Given the description of an element on the screen output the (x, y) to click on. 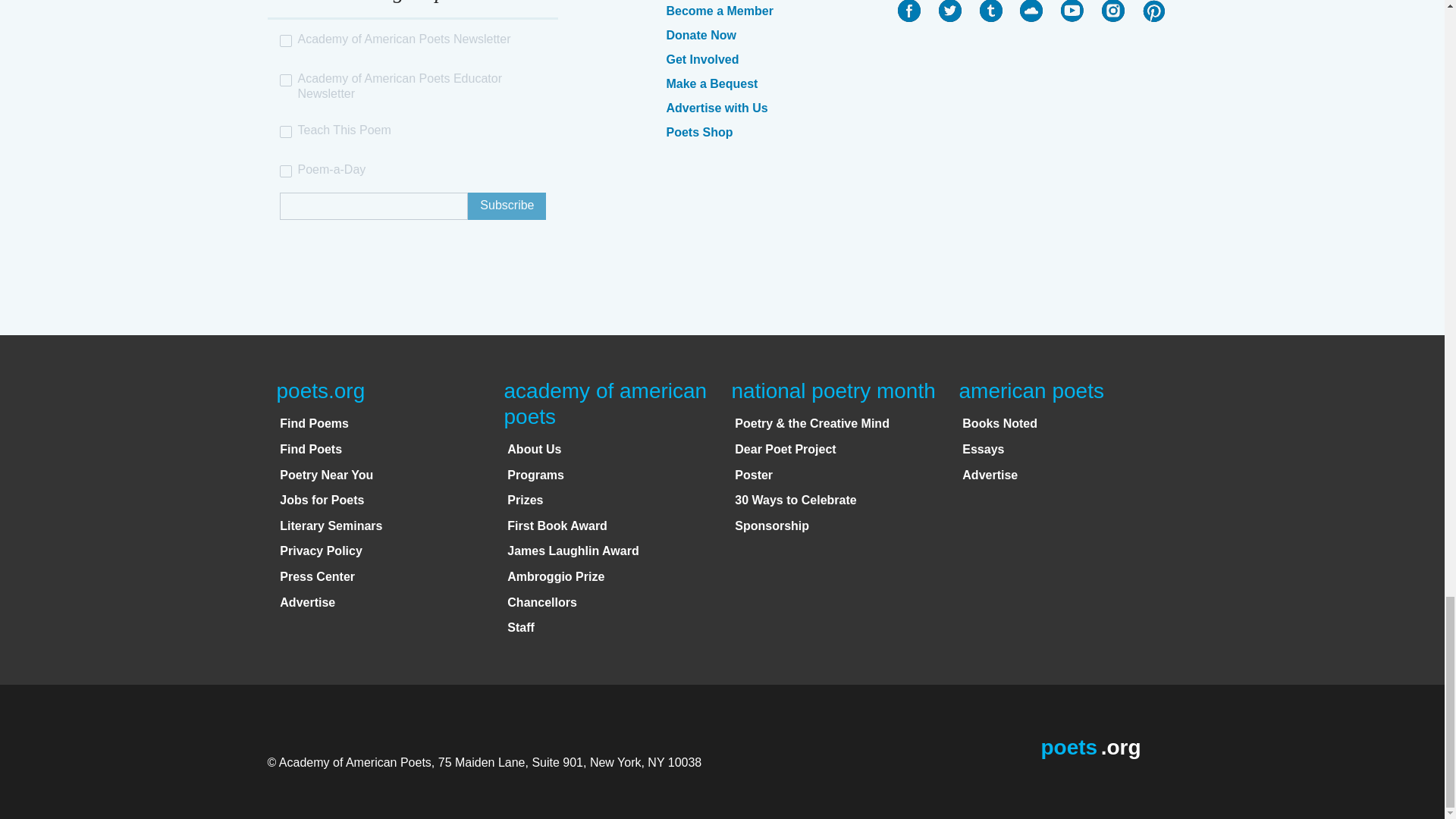
Jobs for Poets (321, 499)
Poetry Near You (325, 474)
Literary Seminars (330, 525)
Subscribe (506, 206)
